Given the description of an element on the screen output the (x, y) to click on. 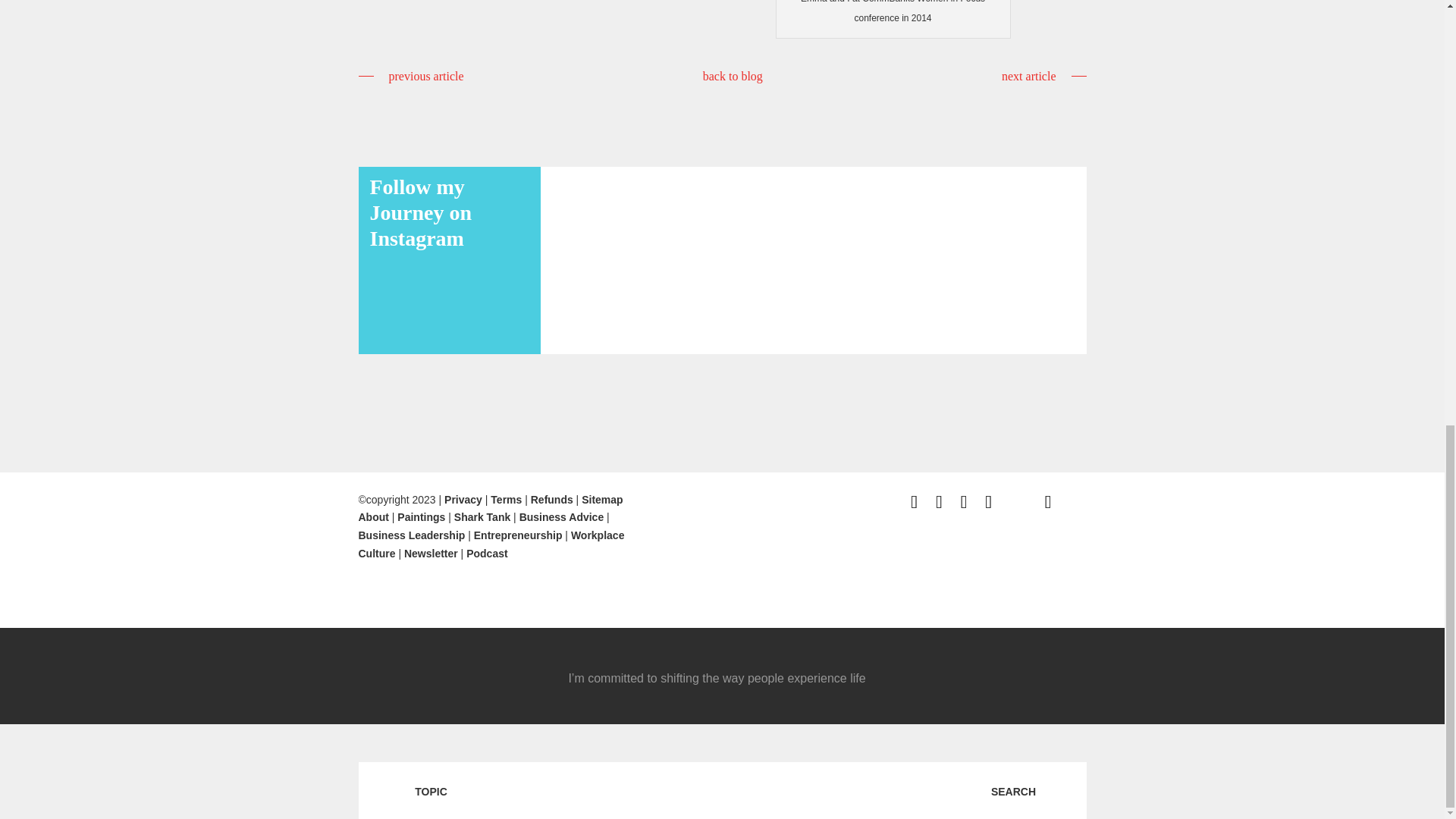
back to blog (732, 75)
previous article (410, 76)
next article (1043, 76)
Privacy (462, 499)
Terms (505, 499)
